Given the description of an element on the screen output the (x, y) to click on. 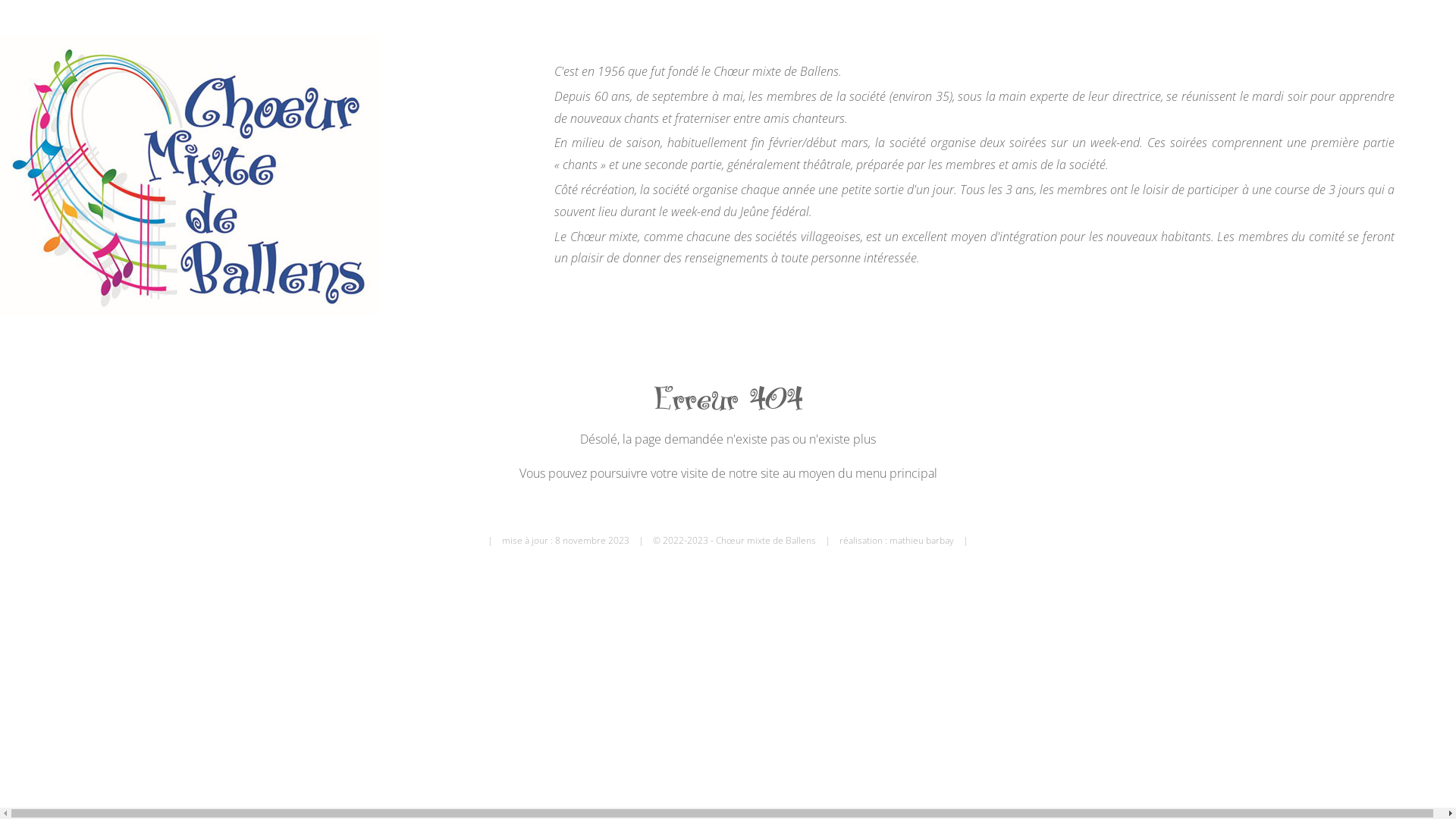
Choeur mixte de Ballens Element type: hover (189, 175)
mathieu barbay Element type: text (921, 539)
